Given the description of an element on the screen output the (x, y) to click on. 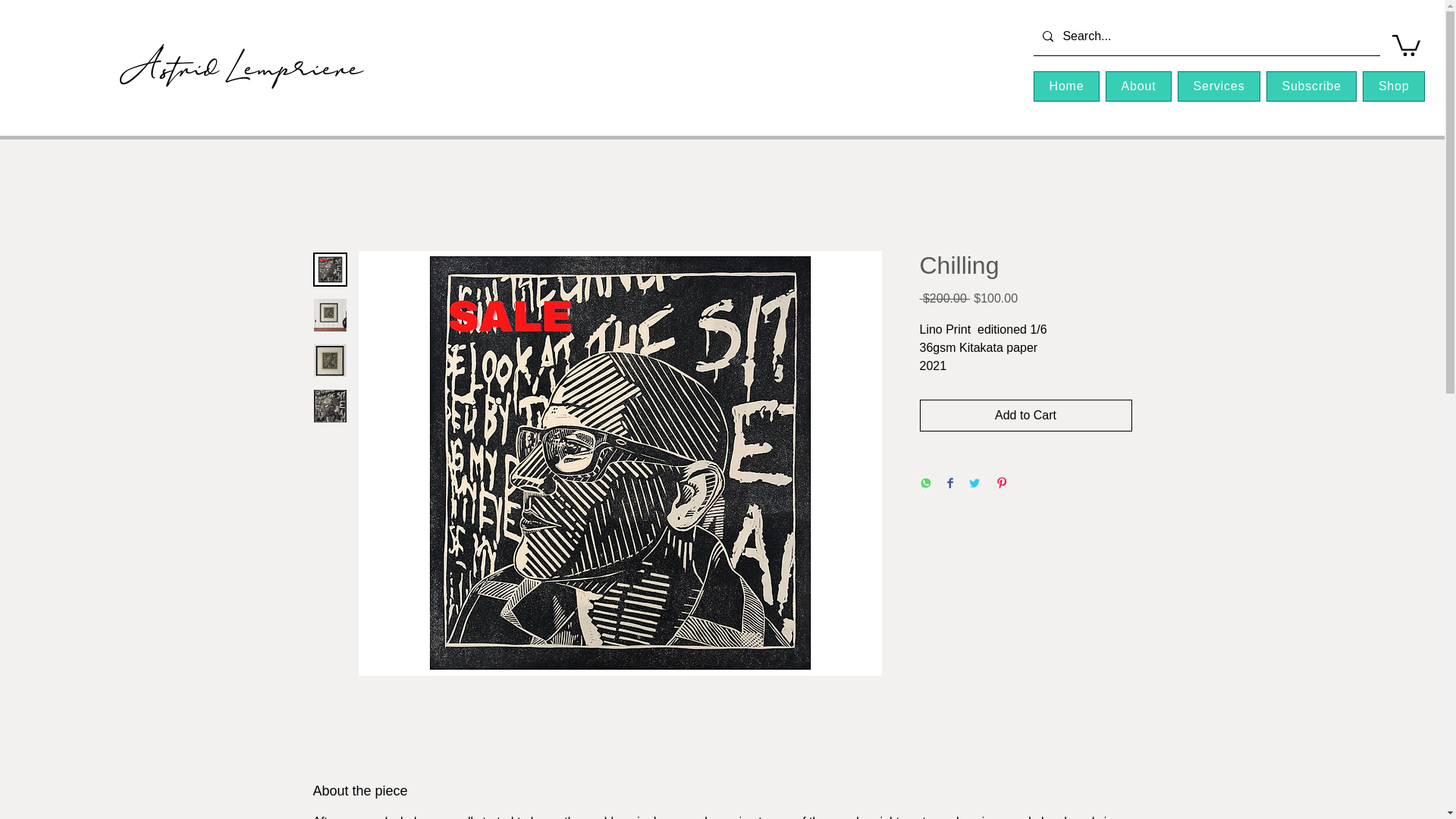
About (1138, 86)
Shop (1393, 86)
Subscribe (1311, 86)
Home (1066, 86)
Services (1218, 86)
Add to Cart (1024, 415)
AL LOGO black.png (241, 66)
